Given the description of an element on the screen output the (x, y) to click on. 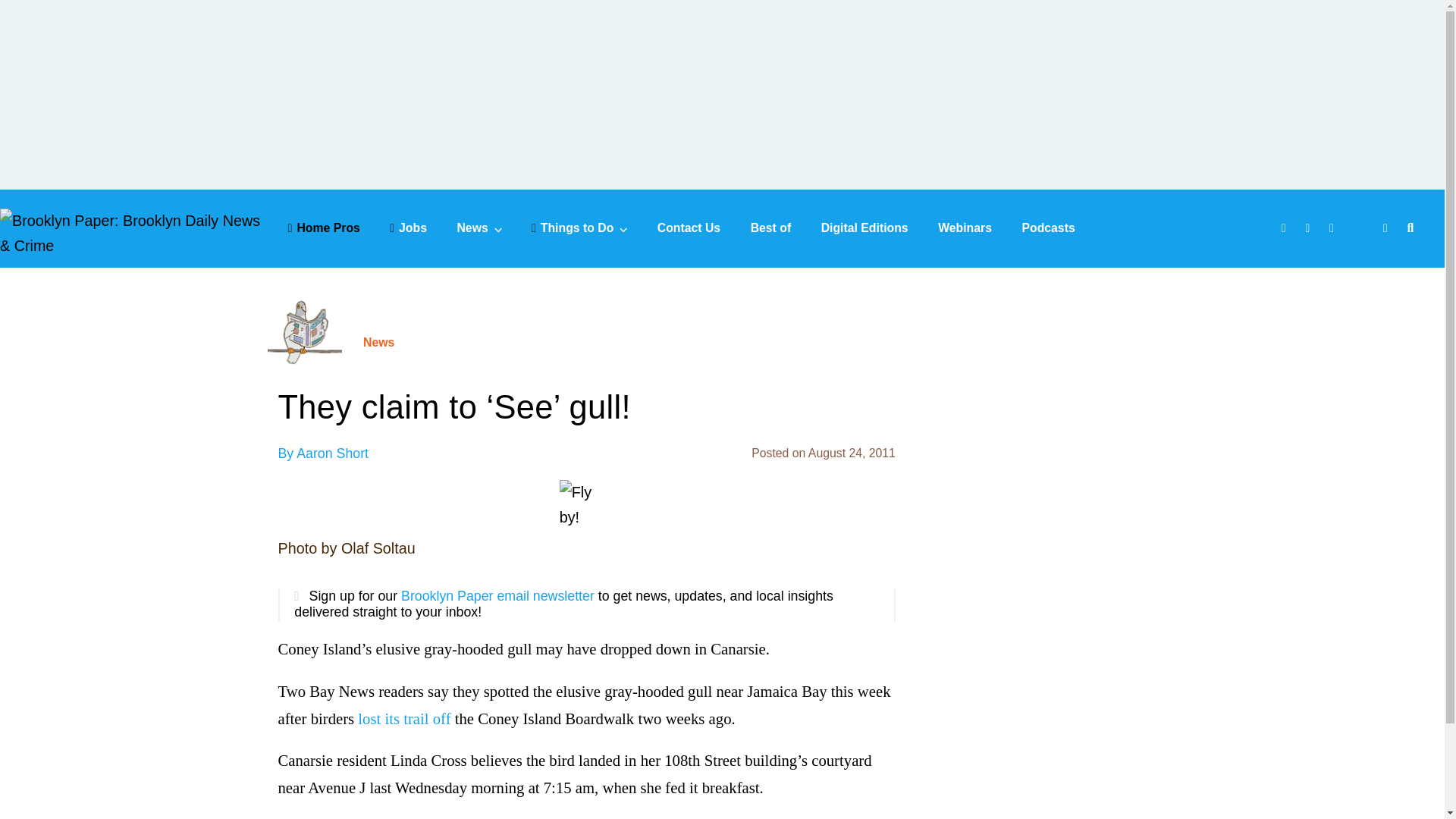
Best of (771, 227)
Home Pros (323, 227)
Twitter (1310, 228)
Jobs (408, 227)
Things to Do (579, 227)
News (478, 227)
Podcasts (1048, 227)
Digital Editions (864, 227)
Contact Us (689, 227)
Instagram (1333, 228)
Facebook (1285, 228)
Webinars (964, 227)
